Given the description of an element on the screen output the (x, y) to click on. 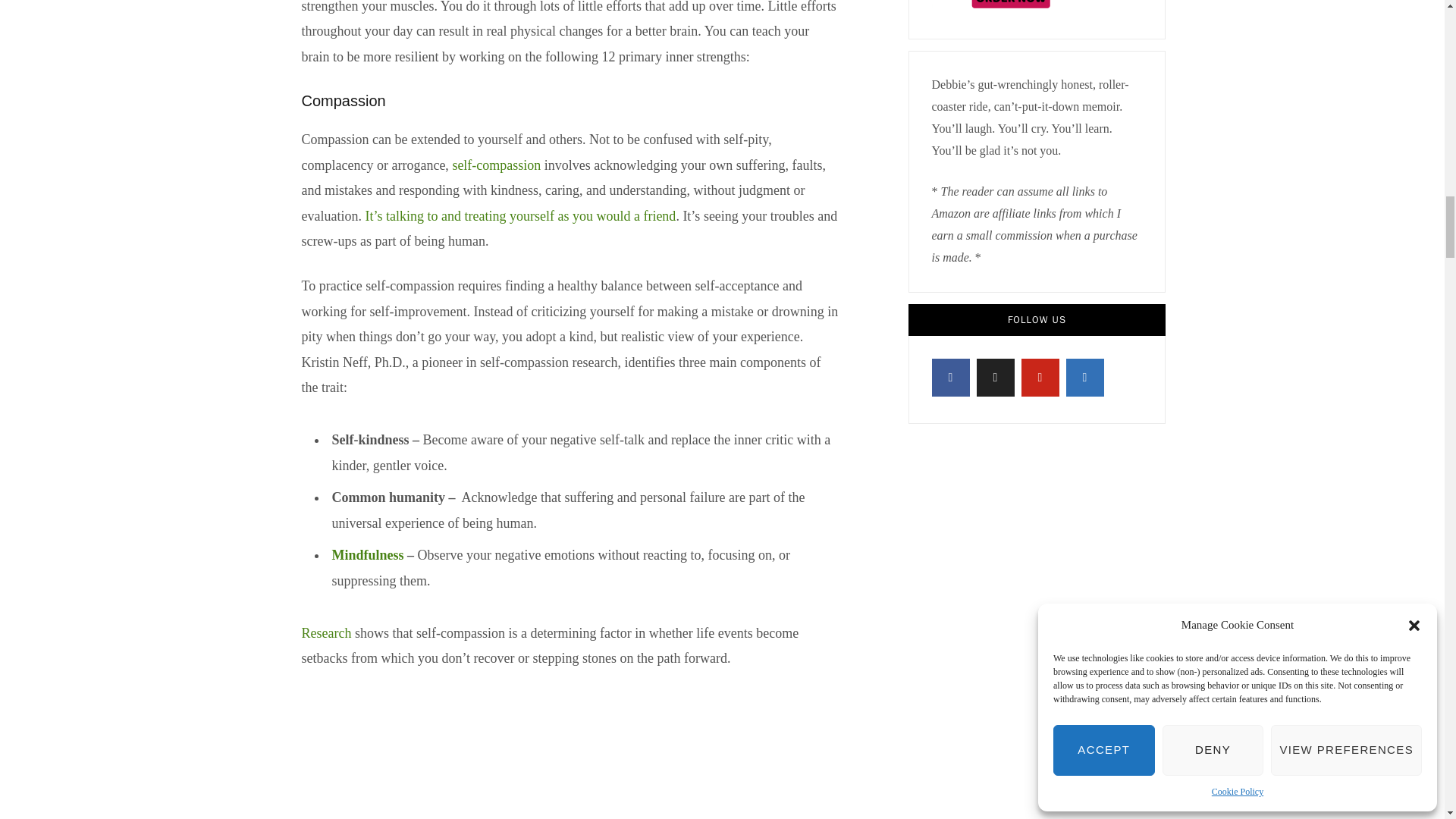
Facebook (950, 377)
Pinterest (1039, 377)
Linkedin (1084, 377)
